Given the description of an element on the screen output the (x, y) to click on. 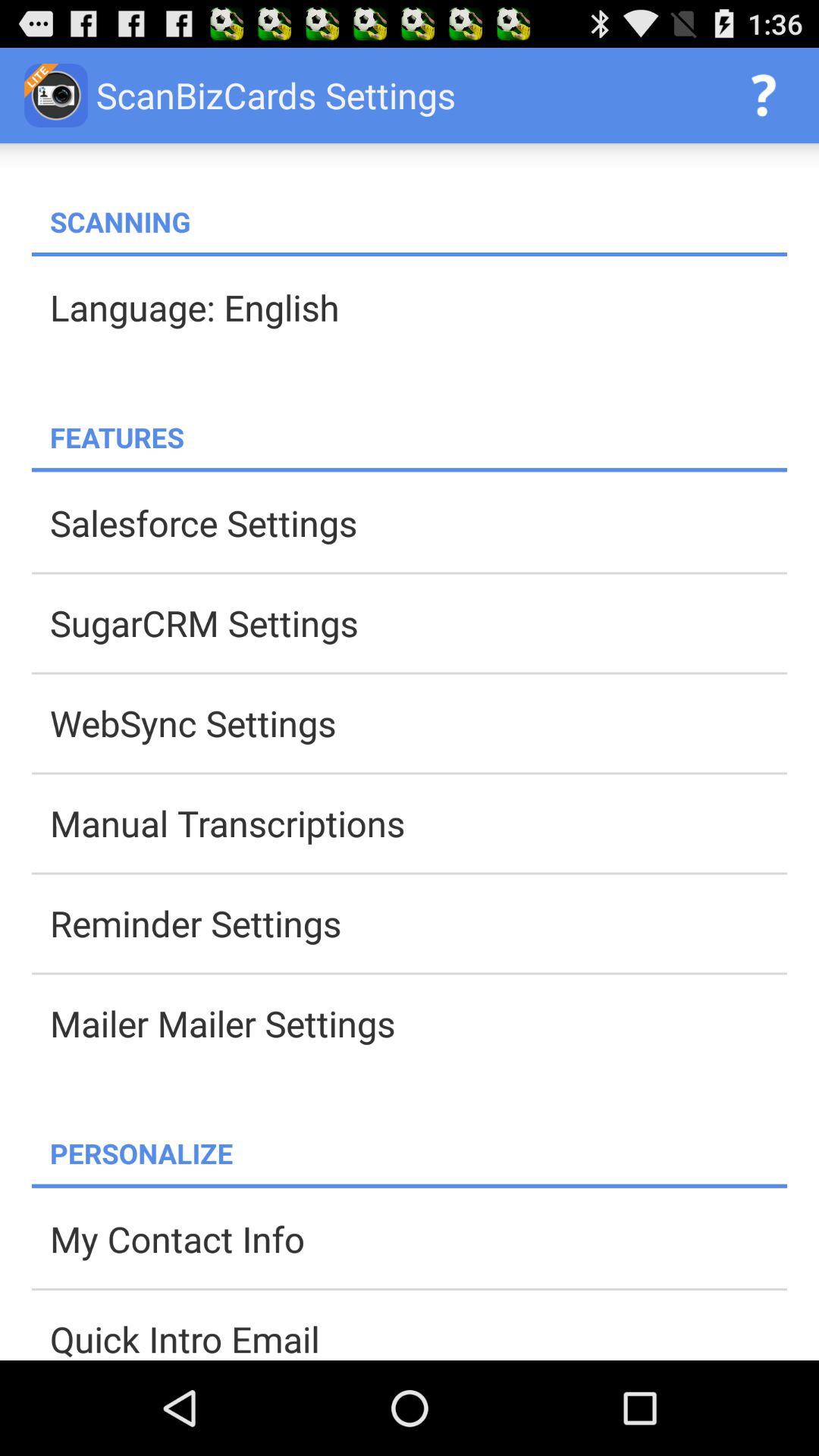
tap the app above the language: english app (409, 254)
